Given the description of an element on the screen output the (x, y) to click on. 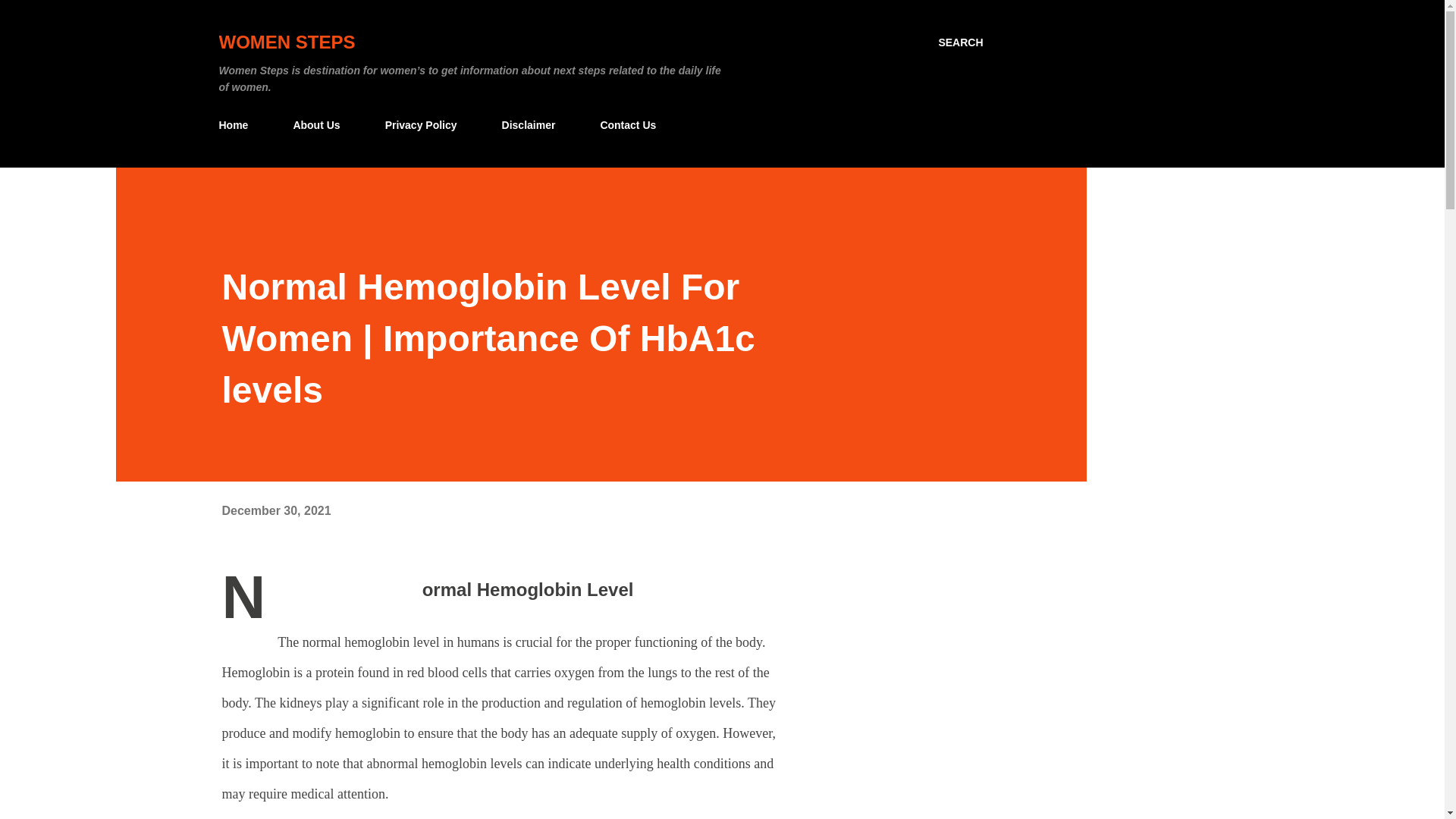
WOMEN STEPS (286, 41)
Home (237, 124)
Disclaimer (528, 124)
About Us (316, 124)
December 30, 2021 (275, 510)
SEARCH (959, 42)
permanent link (275, 510)
Privacy Policy (420, 124)
Contact Us (628, 124)
